Given the description of an element on the screen output the (x, y) to click on. 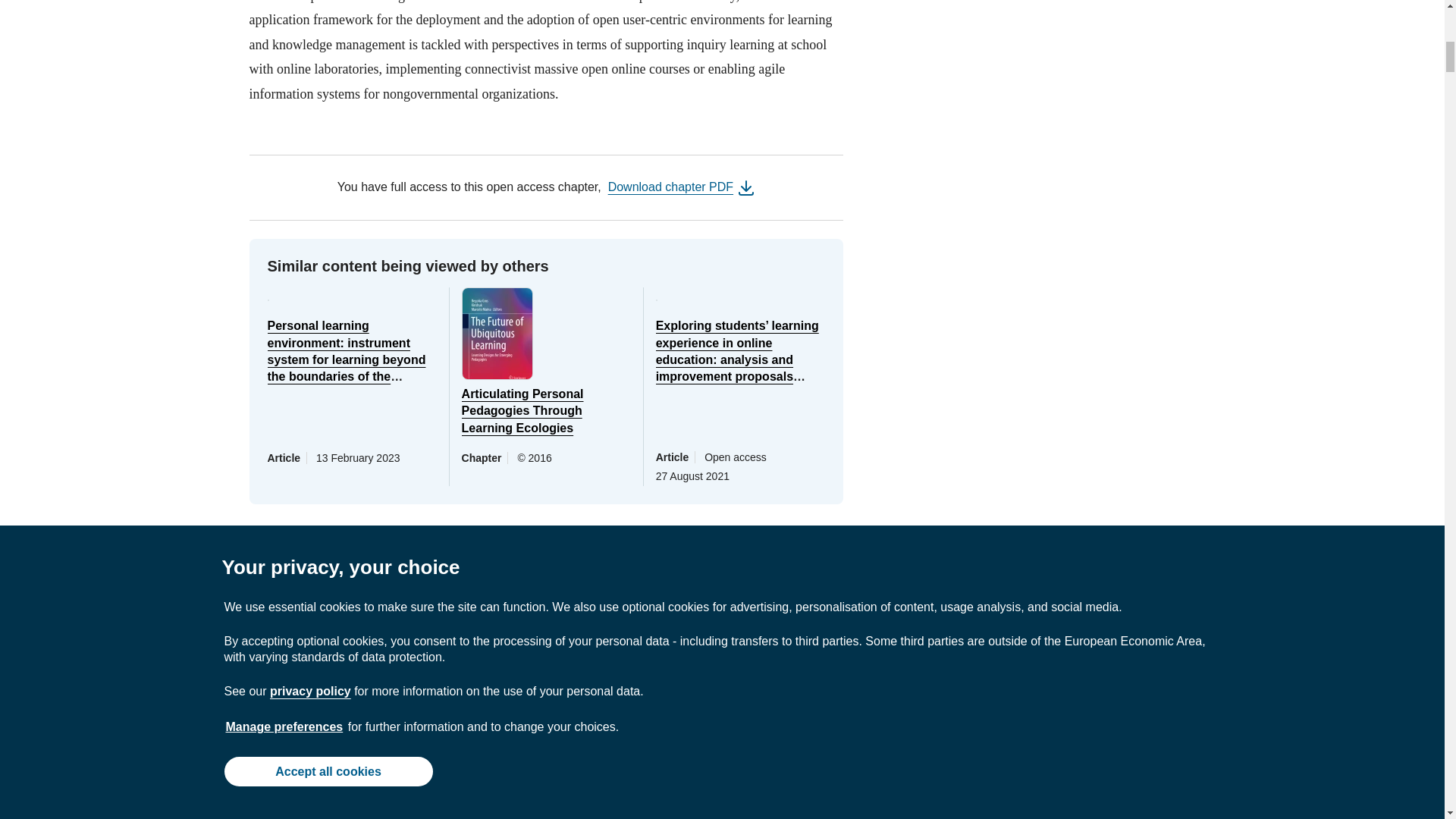
Web 2.0 (408, 638)
Social Learning (306, 638)
Articulating Personal Pedagogies Through Learning Ecologies (522, 410)
Informal learning (544, 601)
Download chapter PDF (670, 186)
Higher education (672, 601)
